Given the description of an element on the screen output the (x, y) to click on. 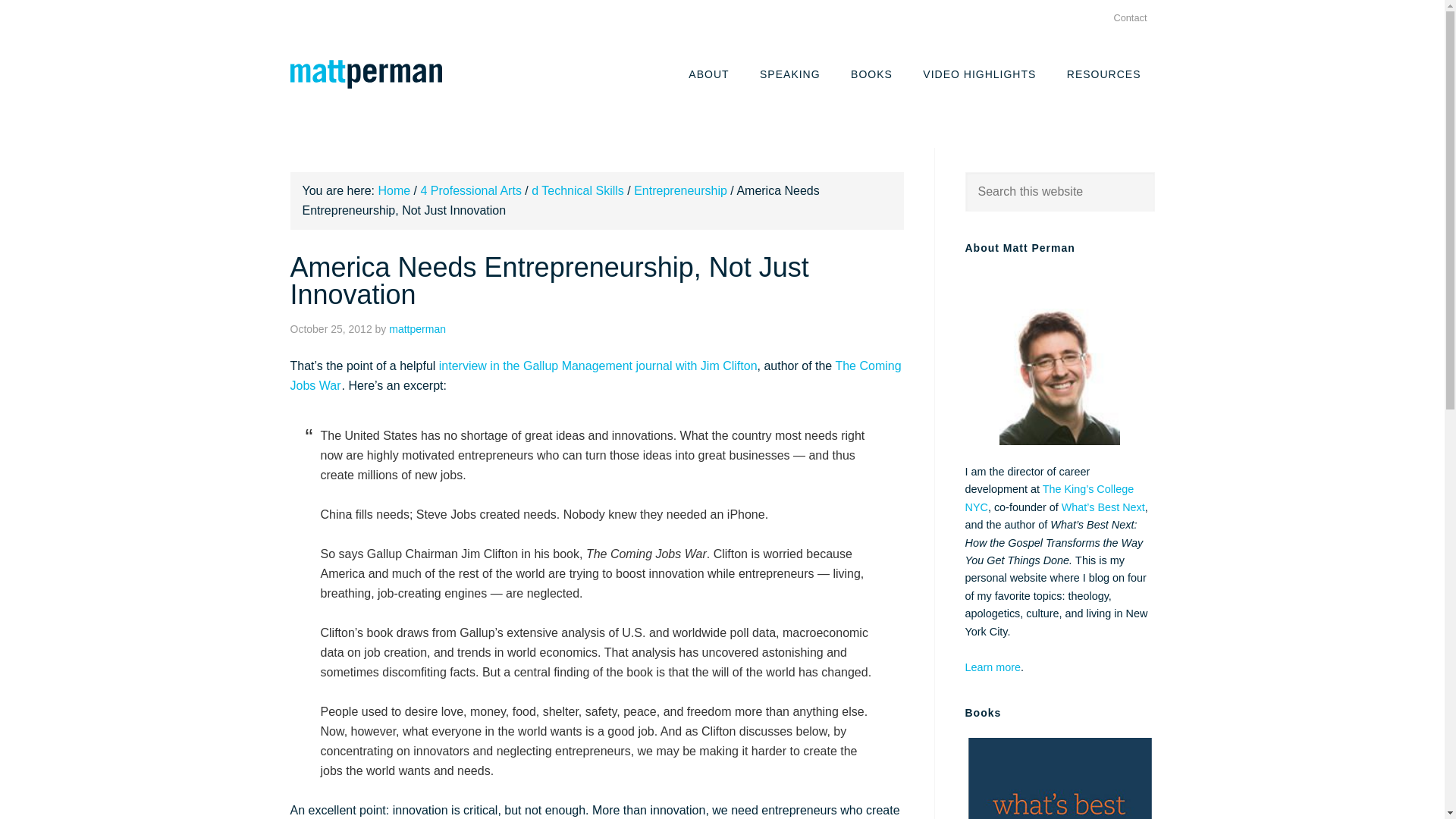
Learn more (991, 666)
mattperman (416, 328)
4 Professional Arts (470, 190)
ABOUT (708, 73)
VIDEO HIGHLIGHTS (978, 73)
interview in the Gallup Management journal with Jim Clifton (598, 365)
RESOURCES (1103, 73)
Contact (1130, 18)
The Coming Jobs War (595, 375)
Home (393, 190)
Entrepreneurship (679, 190)
SPEAKING (789, 73)
d Technical Skills (577, 190)
